Given the description of an element on the screen output the (x, y) to click on. 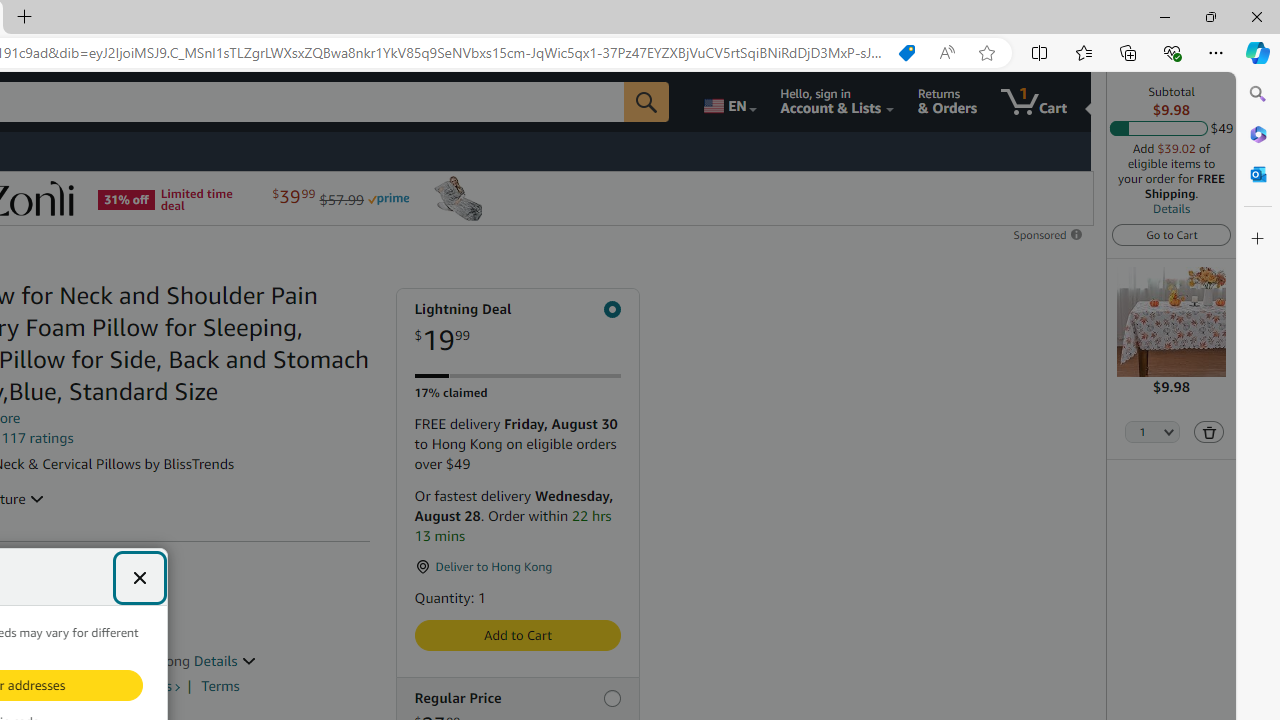
Delete (1209, 431)
Shop items (138, 686)
Hello, sign in Account & Lists (836, 101)
